Given the description of an element on the screen output the (x, y) to click on. 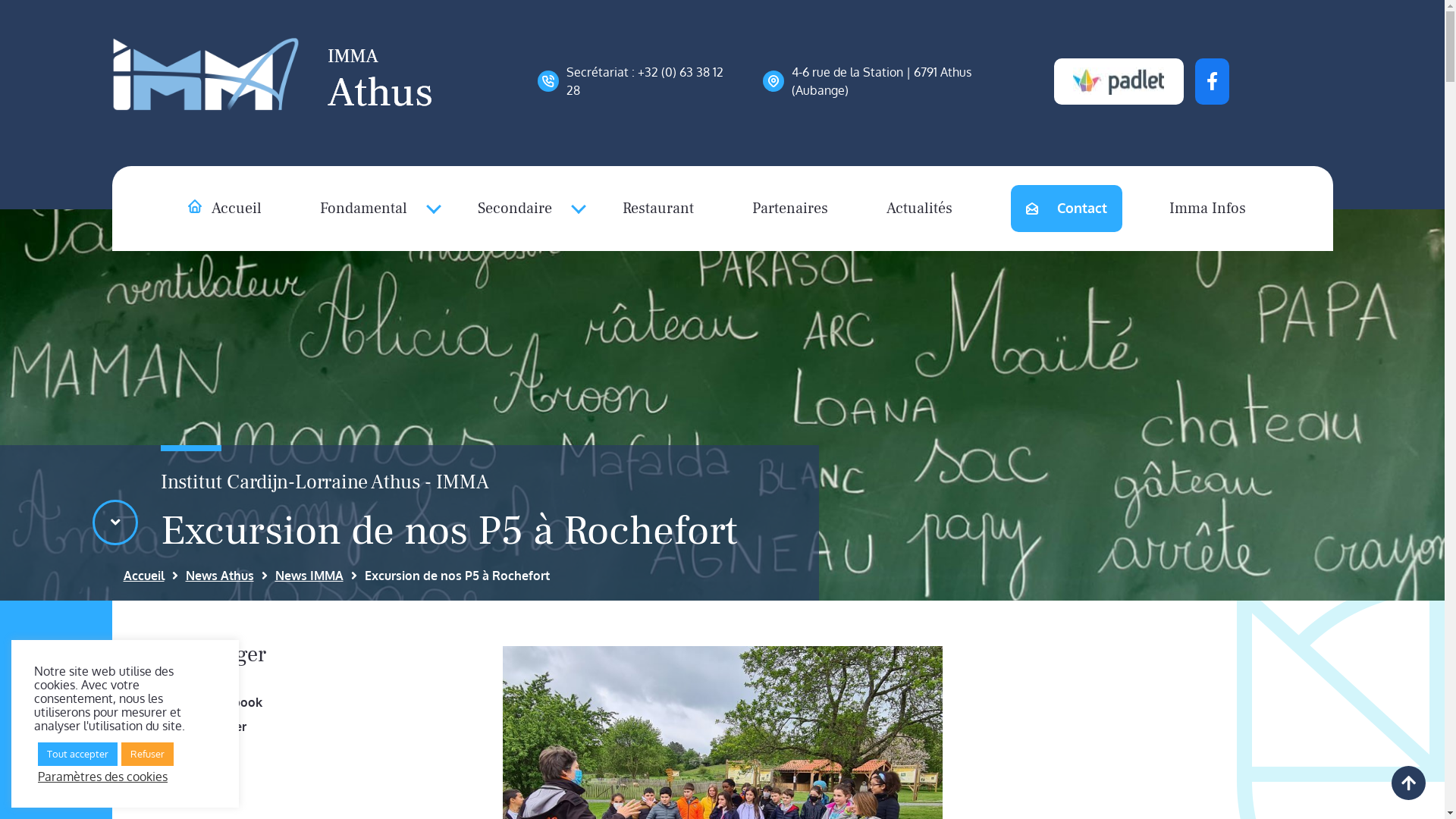
Secondaire Element type: text (520, 208)
Facebook Element type: text (225, 702)
News Athus Element type: text (219, 575)
Refuser Element type: text (147, 753)
Contact Element type: text (1065, 208)
Accueil Element type: text (142, 575)
Twitter Element type: text (217, 726)
Accueil Element type: text (224, 208)
4-6 rue de la Station | 6791 Athus (Aubange) Element type: text (896, 80)
Restaurant Element type: text (657, 208)
Fondamental Element type: text (369, 208)
Imma Infos Element type: text (1207, 208)
Email Element type: text (213, 750)
Partenaires Element type: text (790, 208)
News IMMA Element type: text (308, 575)
Tout accepter Element type: text (77, 753)
